Given the description of an element on the screen output the (x, y) to click on. 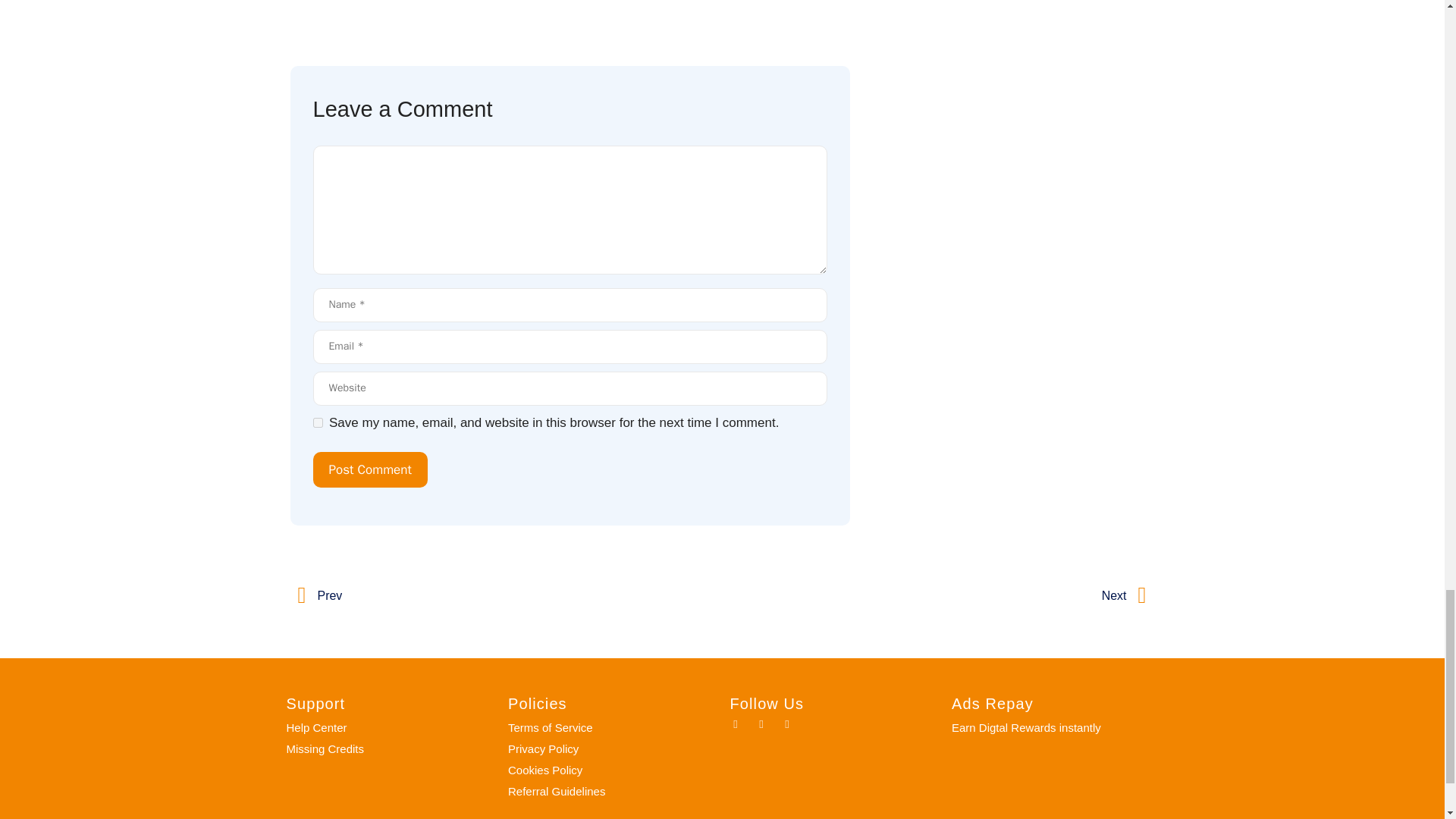
yes (317, 422)
Post Comment (369, 470)
Post Comment (369, 470)
Prev (509, 595)
Next (934, 595)
